Given the description of an element on the screen output the (x, y) to click on. 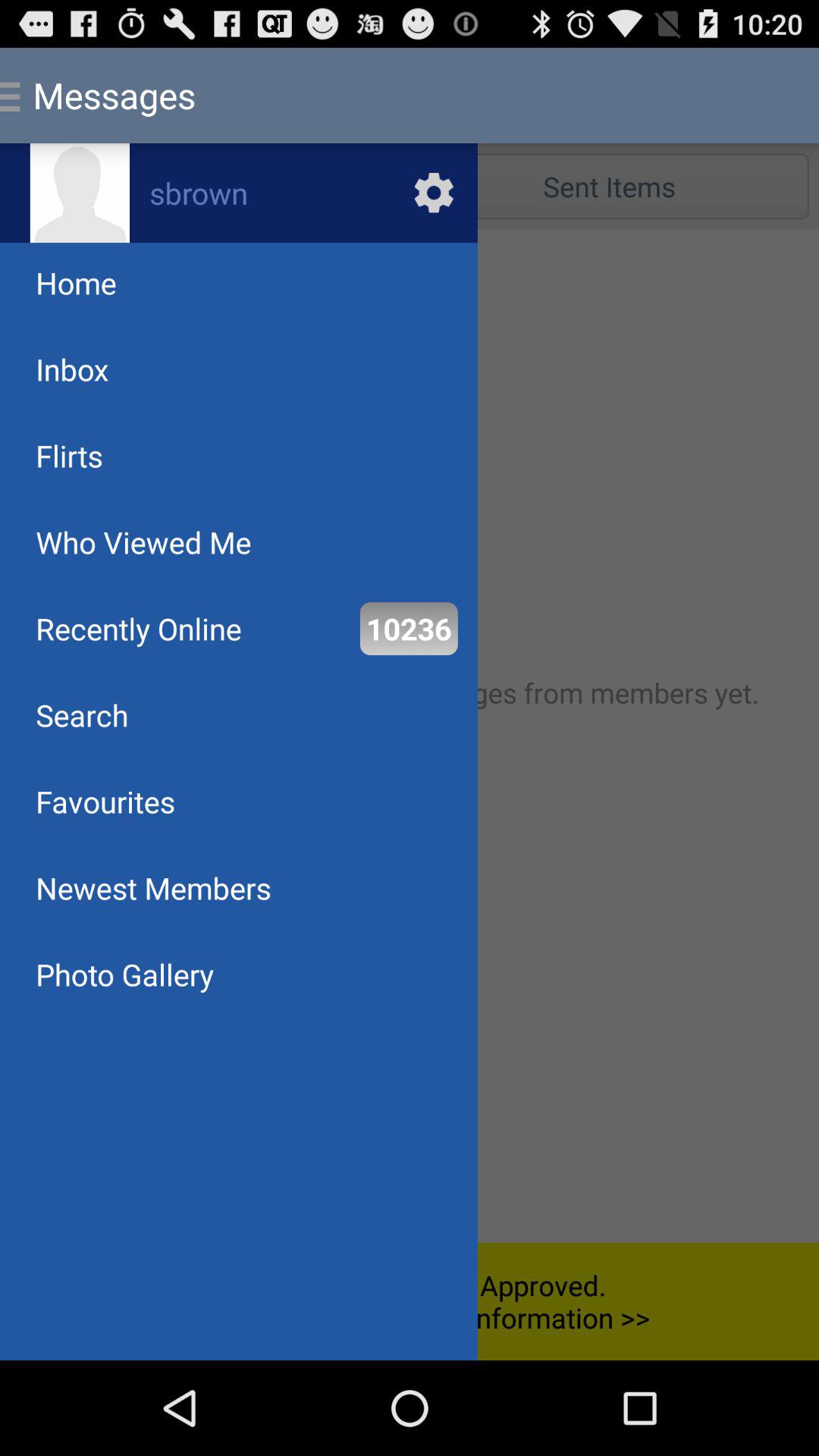
turn on app above the favourites item (81, 715)
